Given the description of an element on the screen output the (x, y) to click on. 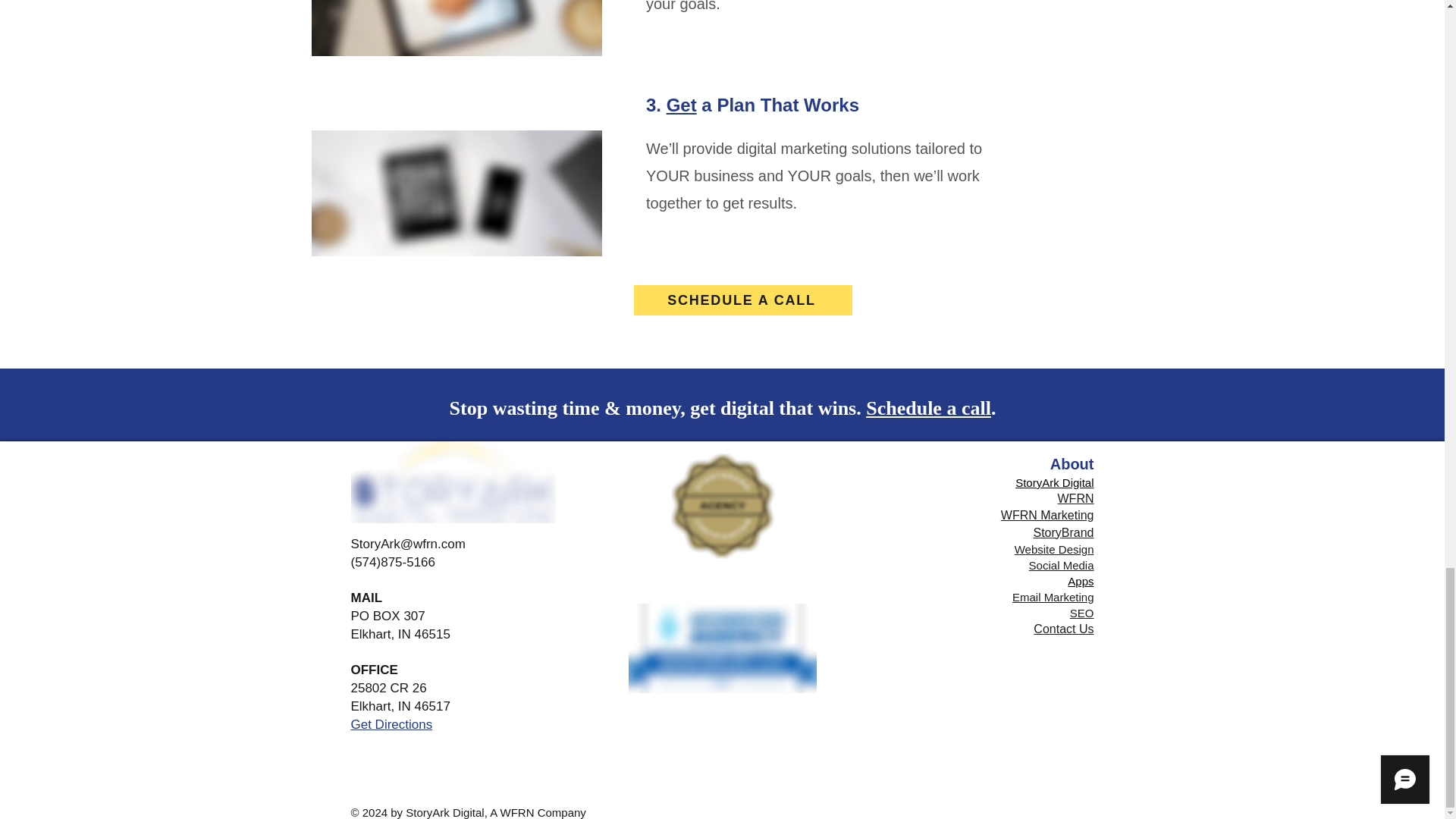
Schedule a call (928, 408)
WFRN (1076, 498)
SEO (1082, 612)
StoryArk Digital (1053, 481)
Get Directions (391, 724)
SCHEDULE A CALL (742, 300)
Email Marketing (1052, 596)
Contact Us (1063, 628)
Social Media (1061, 564)
StoryBrand (1062, 532)
WFRN Marketing (1047, 514)
Apps (1080, 581)
Website Design (1054, 549)
